Given the description of an element on the screen output the (x, y) to click on. 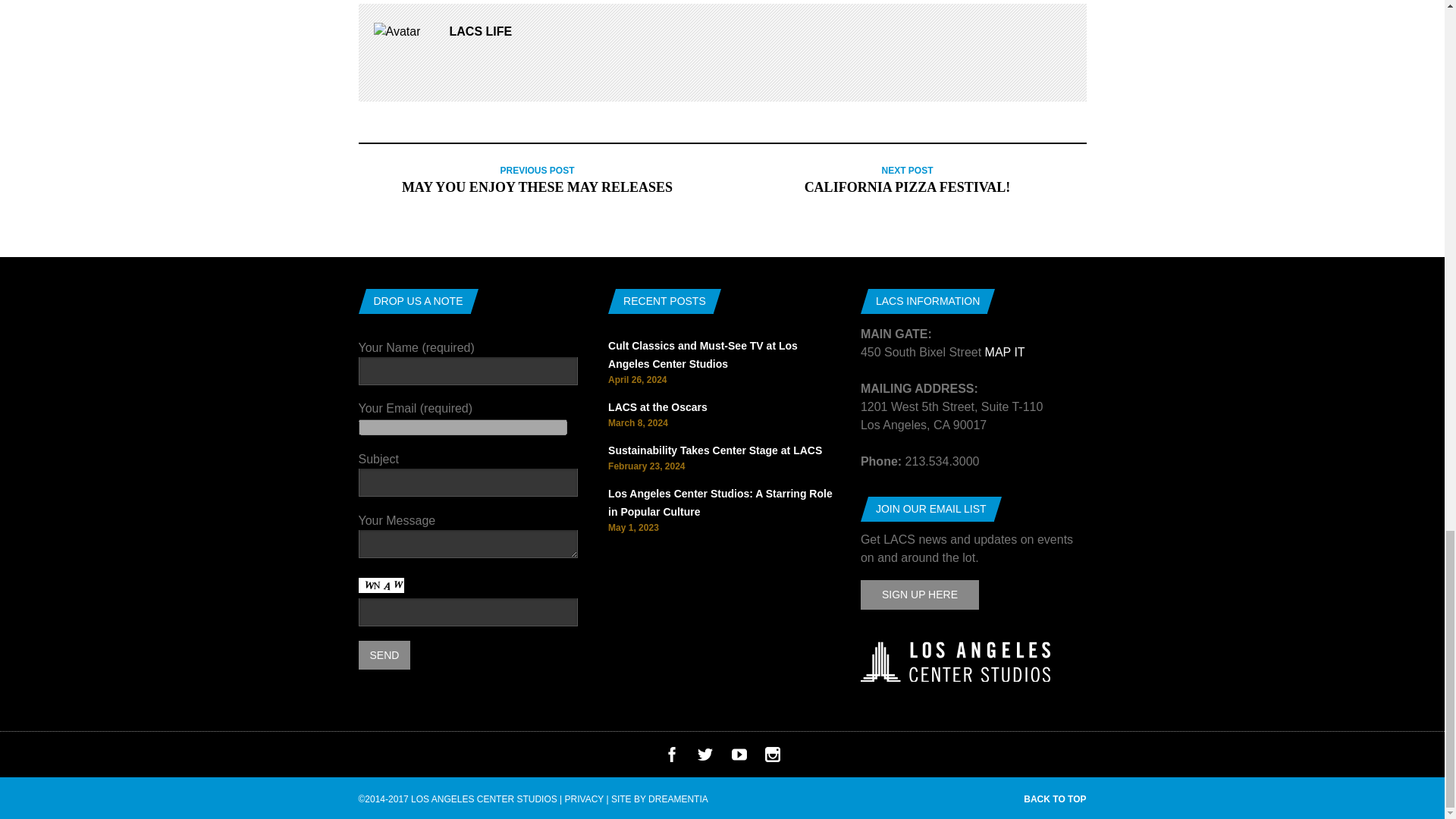
Send (384, 654)
Cult Classics and Must-See TV at Los Angeles Center Studios (702, 354)
Instagram (772, 757)
LACS at the Oscars (657, 407)
CALIFORNIA PIZZA FESTIVAL! (907, 186)
MAP IT (1005, 351)
Send (384, 654)
MAY YOU ENJOY THESE MAY RELEASES (536, 186)
Sustainability Takes Center Stage at LACS (715, 450)
Youtube (739, 757)
